Given the description of an element on the screen output the (x, y) to click on. 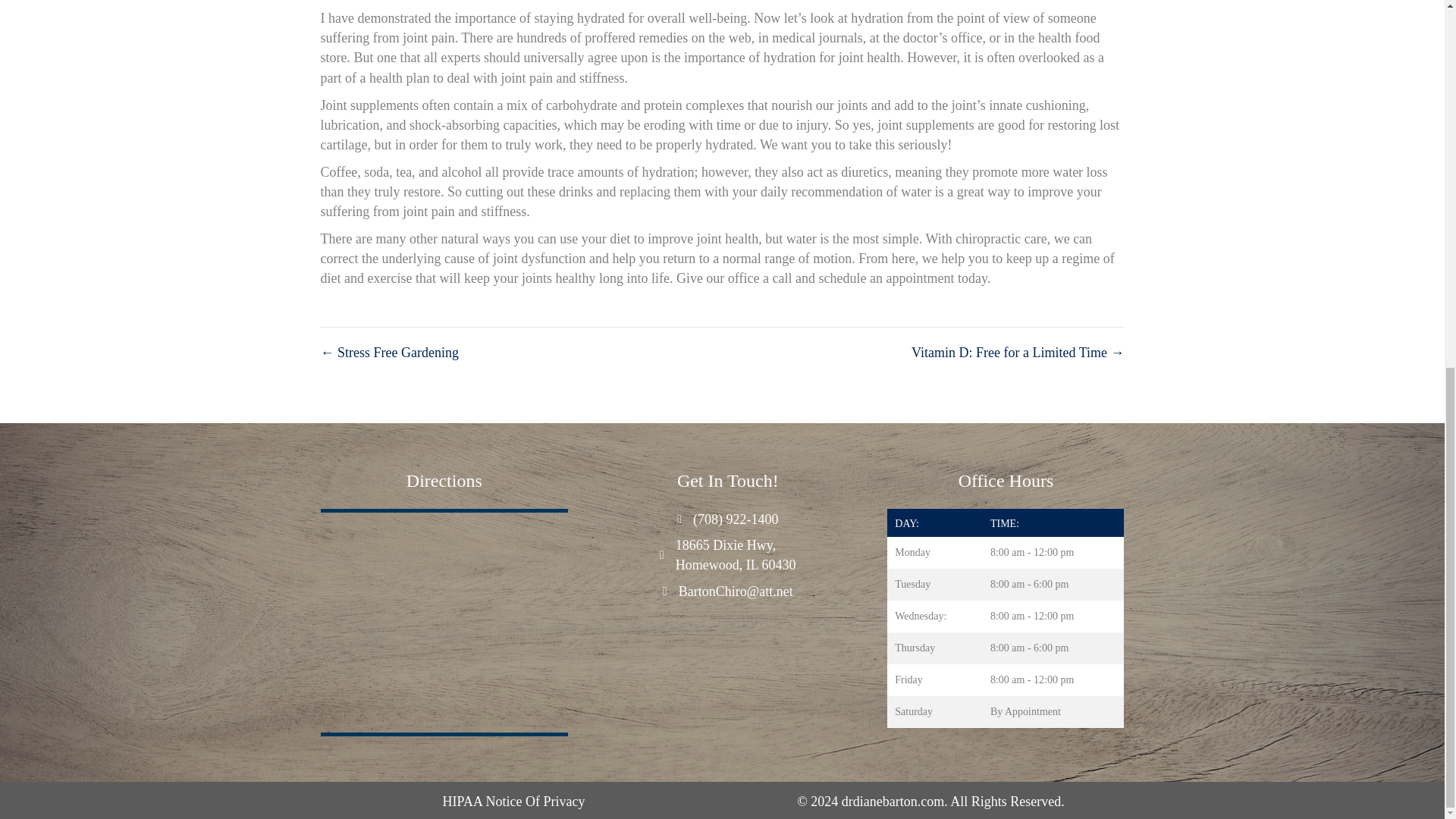
Directions (735, 554)
HIPAA Notice Of Privacy (443, 480)
Directions (513, 801)
